Given the description of an element on the screen output the (x, y) to click on. 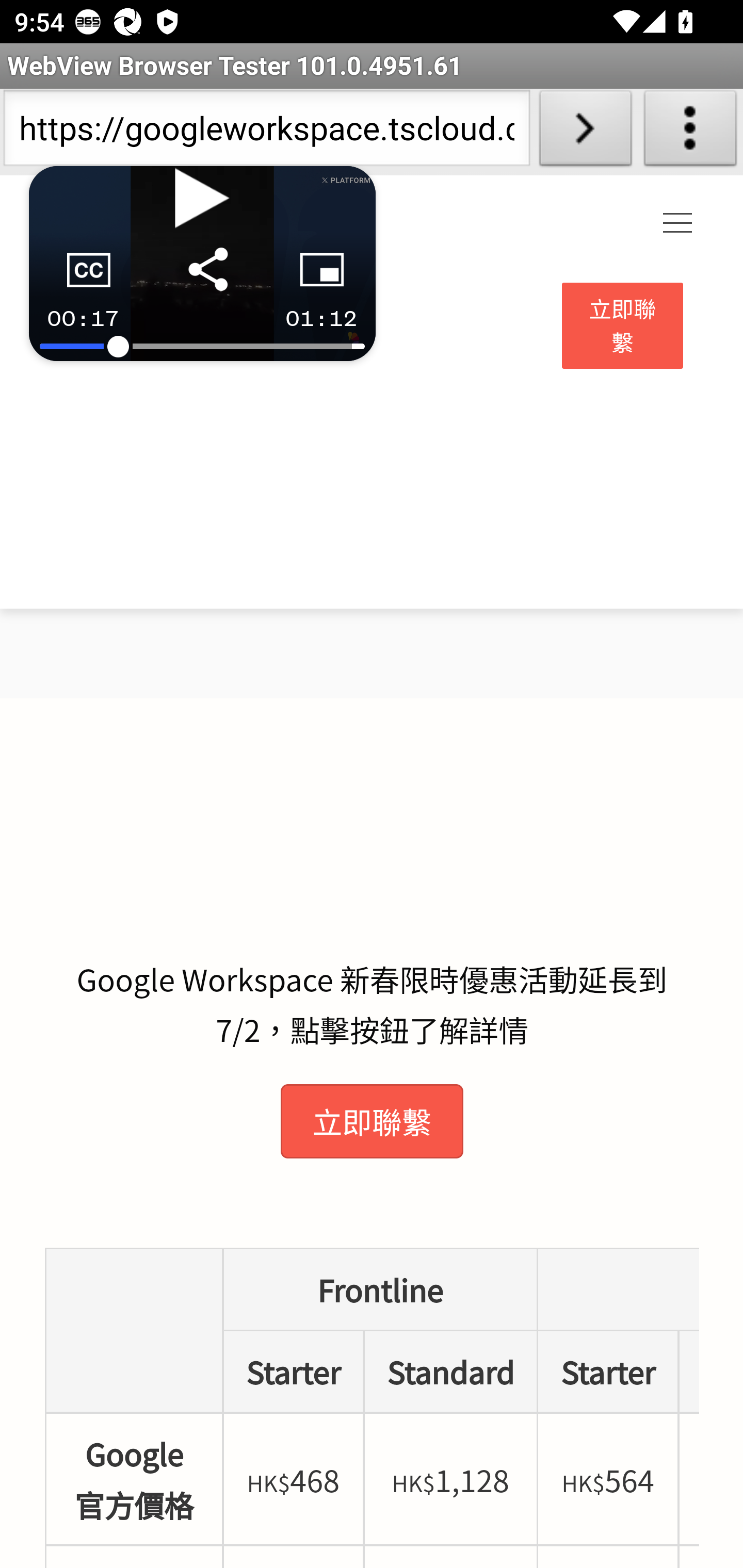
Load URL (585, 132)
About WebView (690, 132)
javascript:void(0) (677, 223)
立即聯繫 (622, 325)
立即聯繫 (371, 1120)
